Given the description of an element on the screen output the (x, y) to click on. 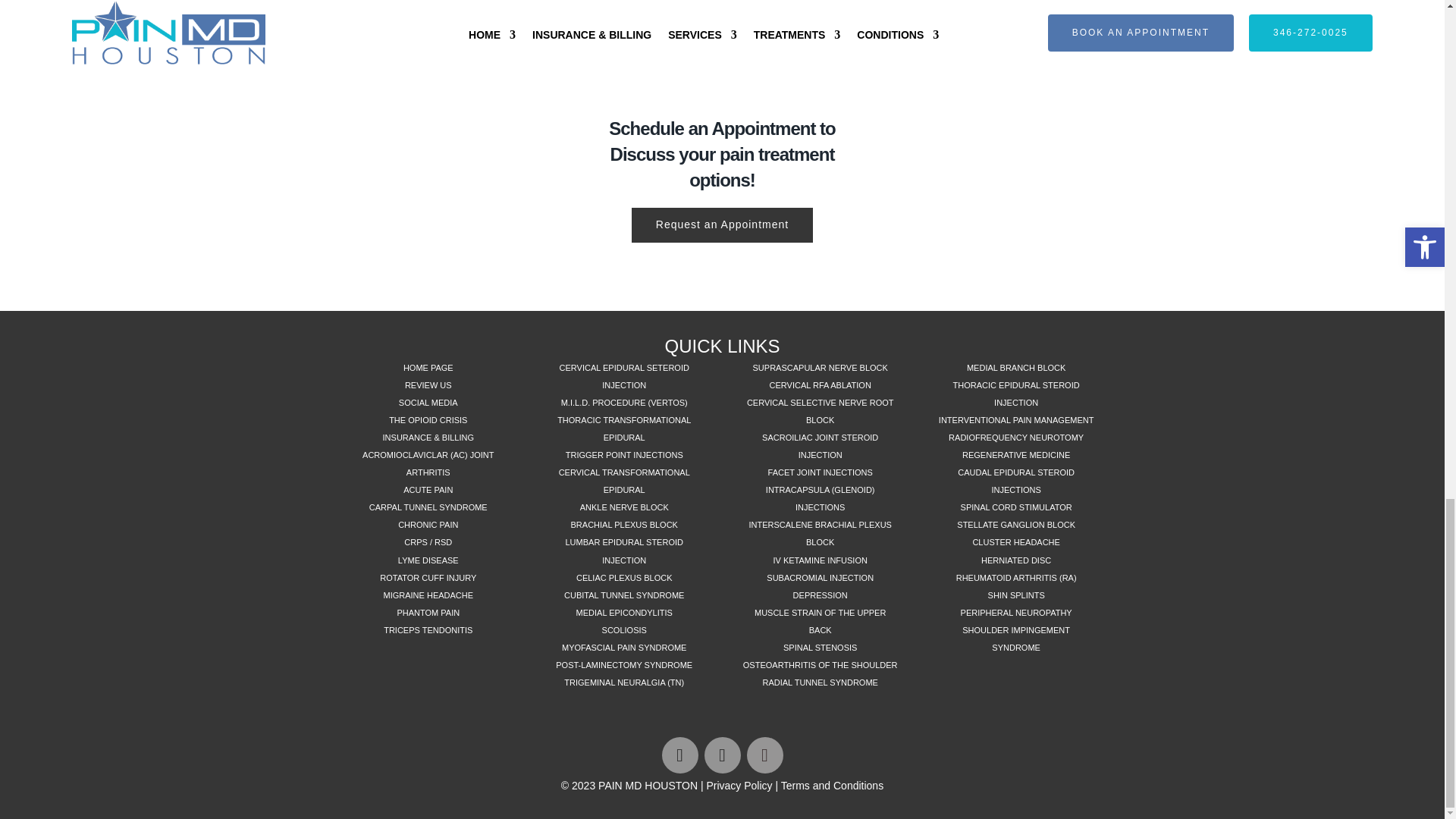
Follow on Youtube (764, 755)
Follow on X (721, 755)
Follow on Facebook (679, 755)
